Given the description of an element on the screen output the (x, y) to click on. 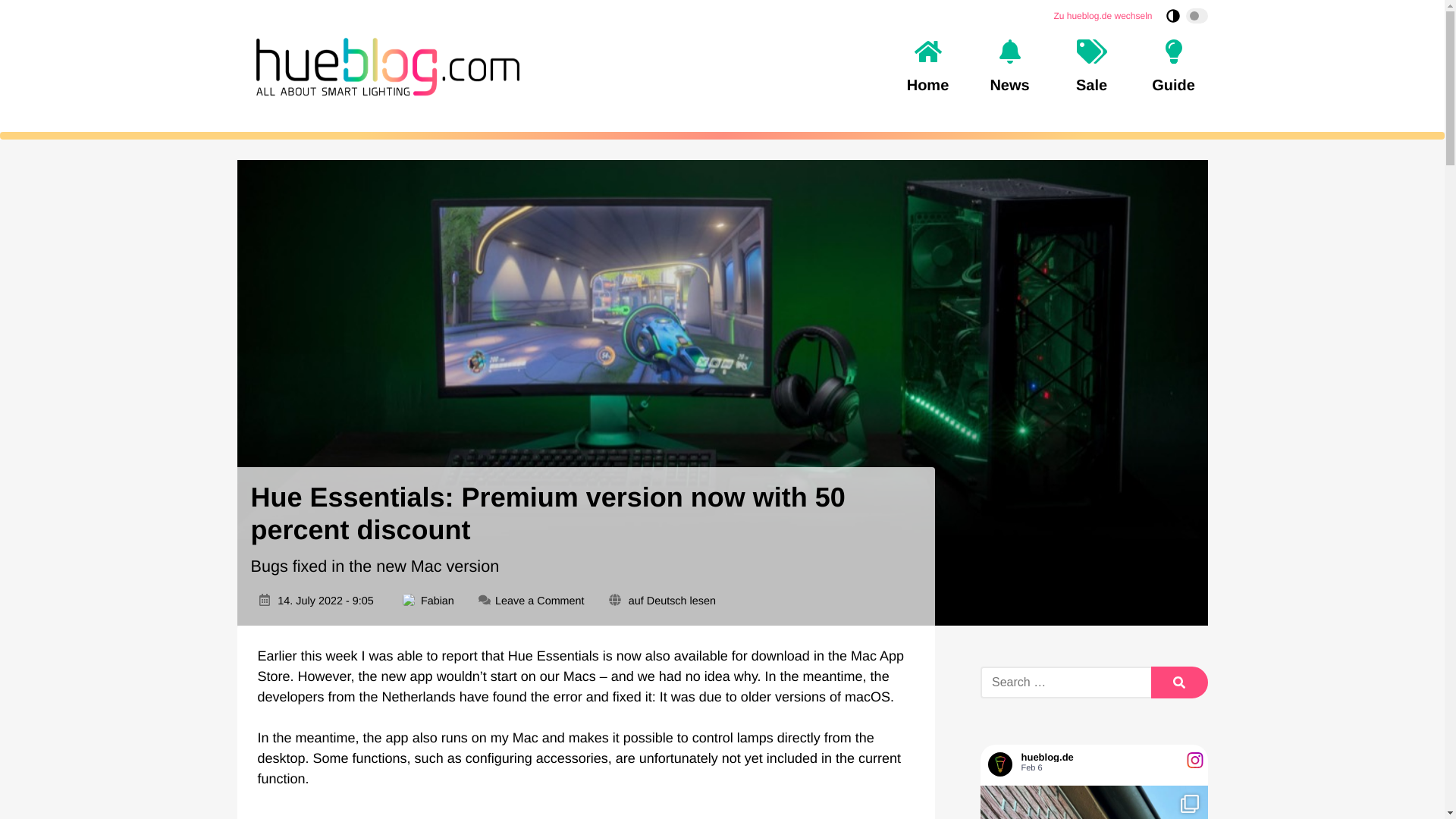
News (1009, 66)
Guide (1172, 66)
Zu hueblog.de wechseln (1101, 15)
Deutsche hueblog.de Seite aufrufen (1101, 15)
Home (926, 66)
auf Deutsch lesen (672, 601)
Sale (1091, 66)
